Given the description of an element on the screen output the (x, y) to click on. 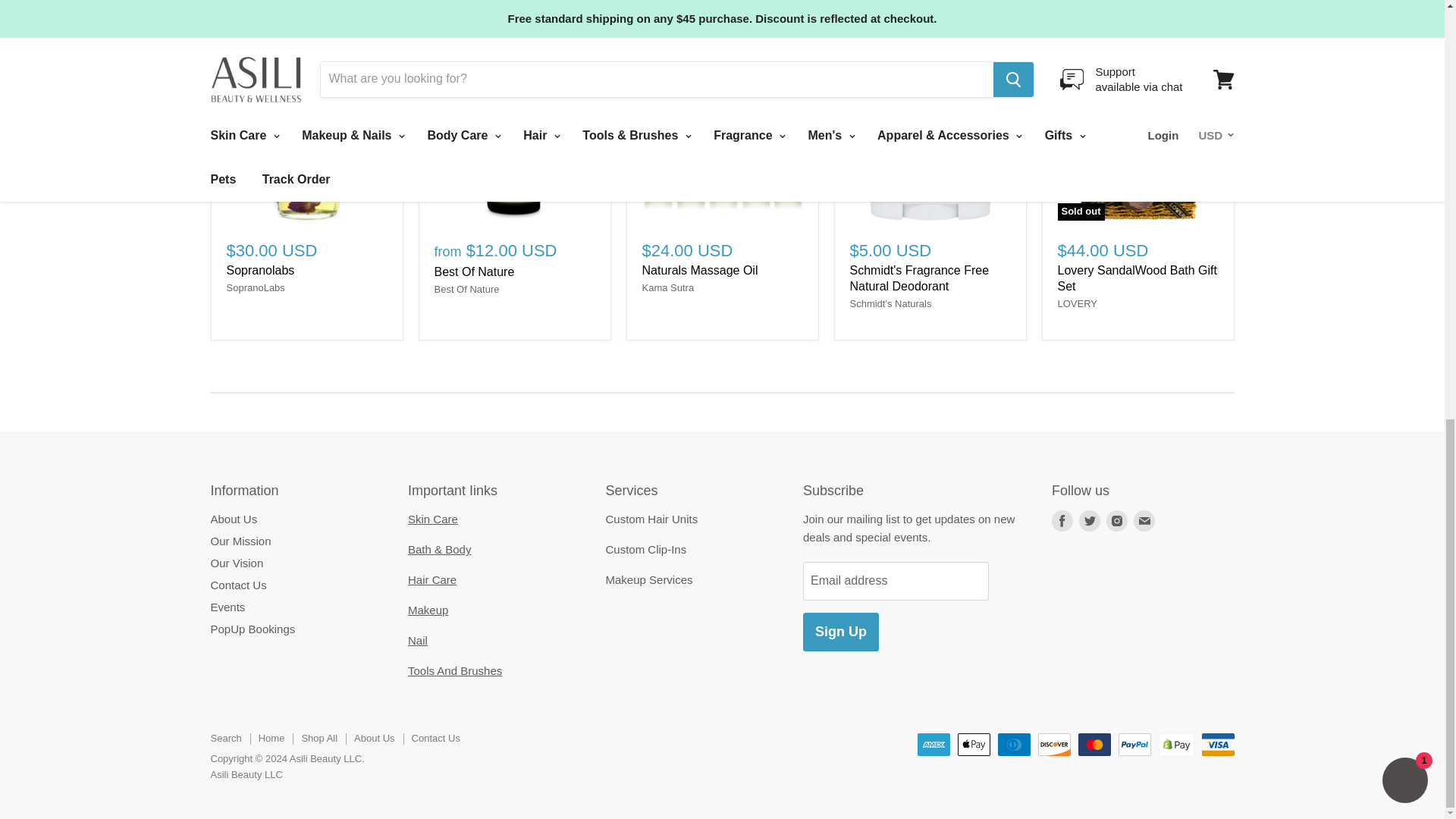
Makeup (427, 609)
Twitter (1089, 520)
Nail (417, 640)
Tools and Brushes (454, 670)
Skin Care (432, 518)
Bath and Body (438, 549)
Hair (432, 579)
Facebook (1061, 520)
